Given the description of an element on the screen output the (x, y) to click on. 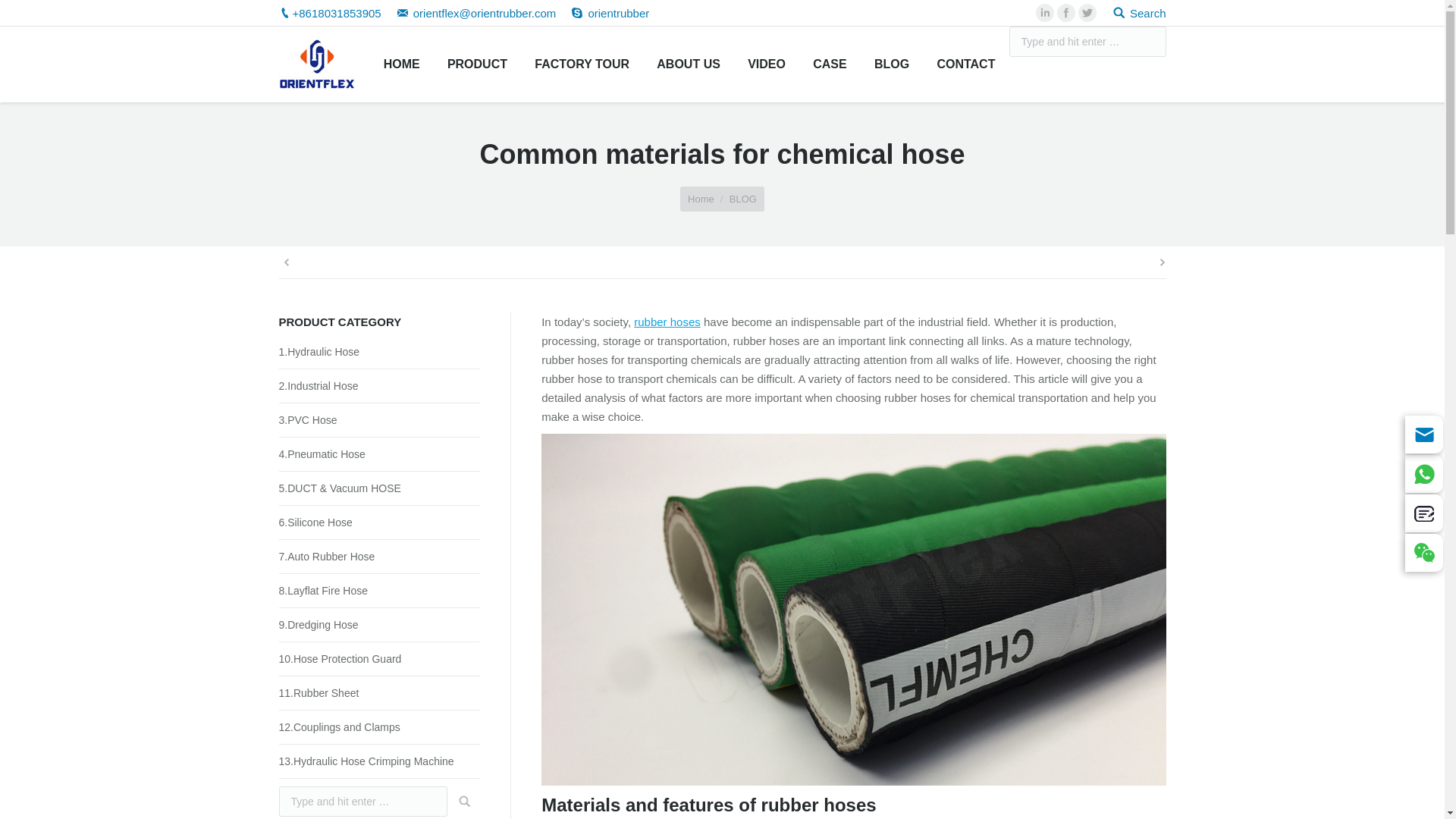
Go! (19, 15)
Linkedin (1044, 13)
Twitter (1087, 13)
HOME (400, 64)
PRODUCT (477, 64)
Go! (459, 801)
Go! (1185, 42)
Go! (1185, 42)
Facebook (1066, 13)
Search (1139, 12)
Go! (459, 801)
